Given the description of an element on the screen output the (x, y) to click on. 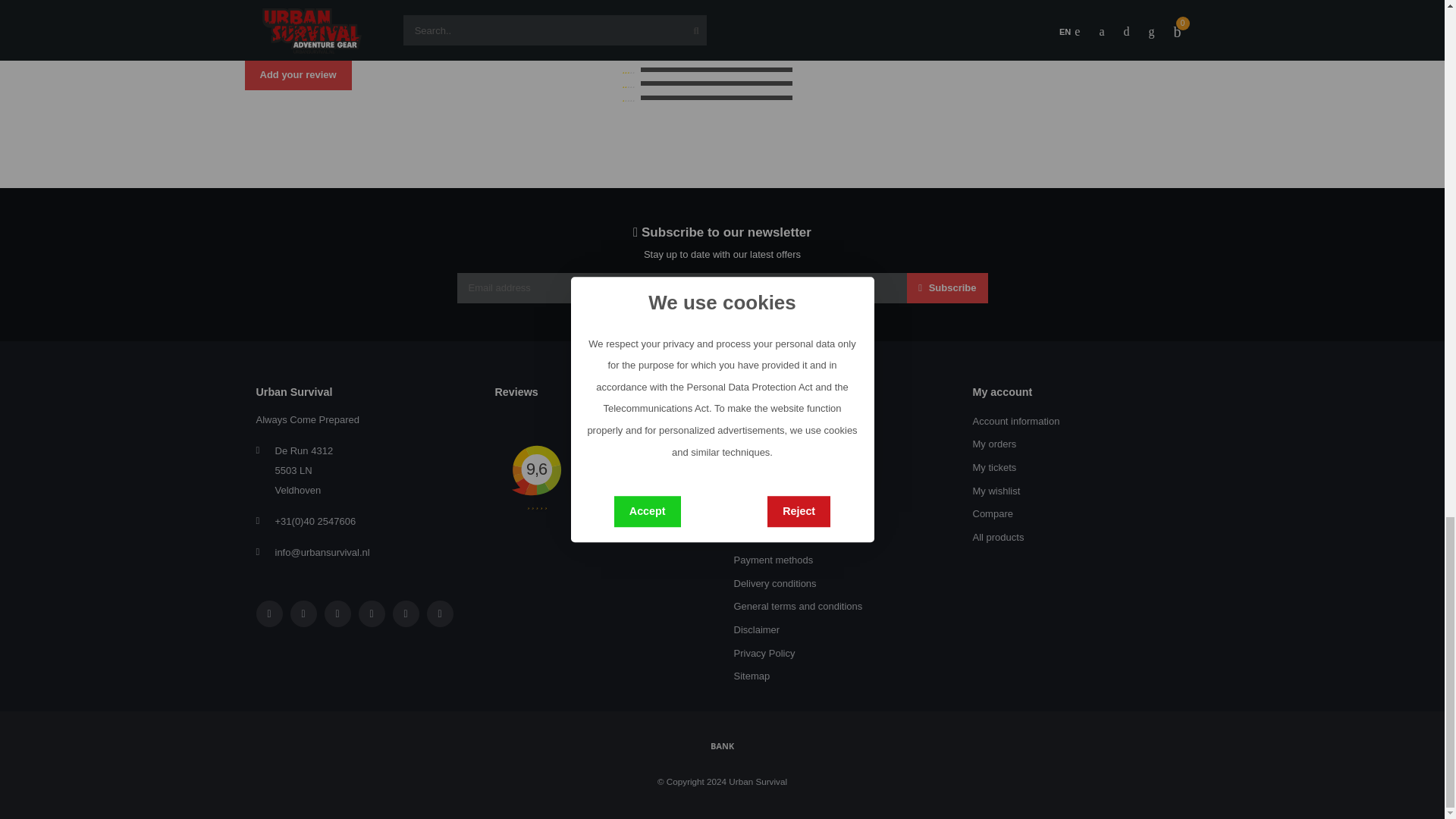
About us (753, 422)
Customer Service (772, 467)
Our Store (754, 444)
Maattabel (755, 491)
